Given the description of an element on the screen output the (x, y) to click on. 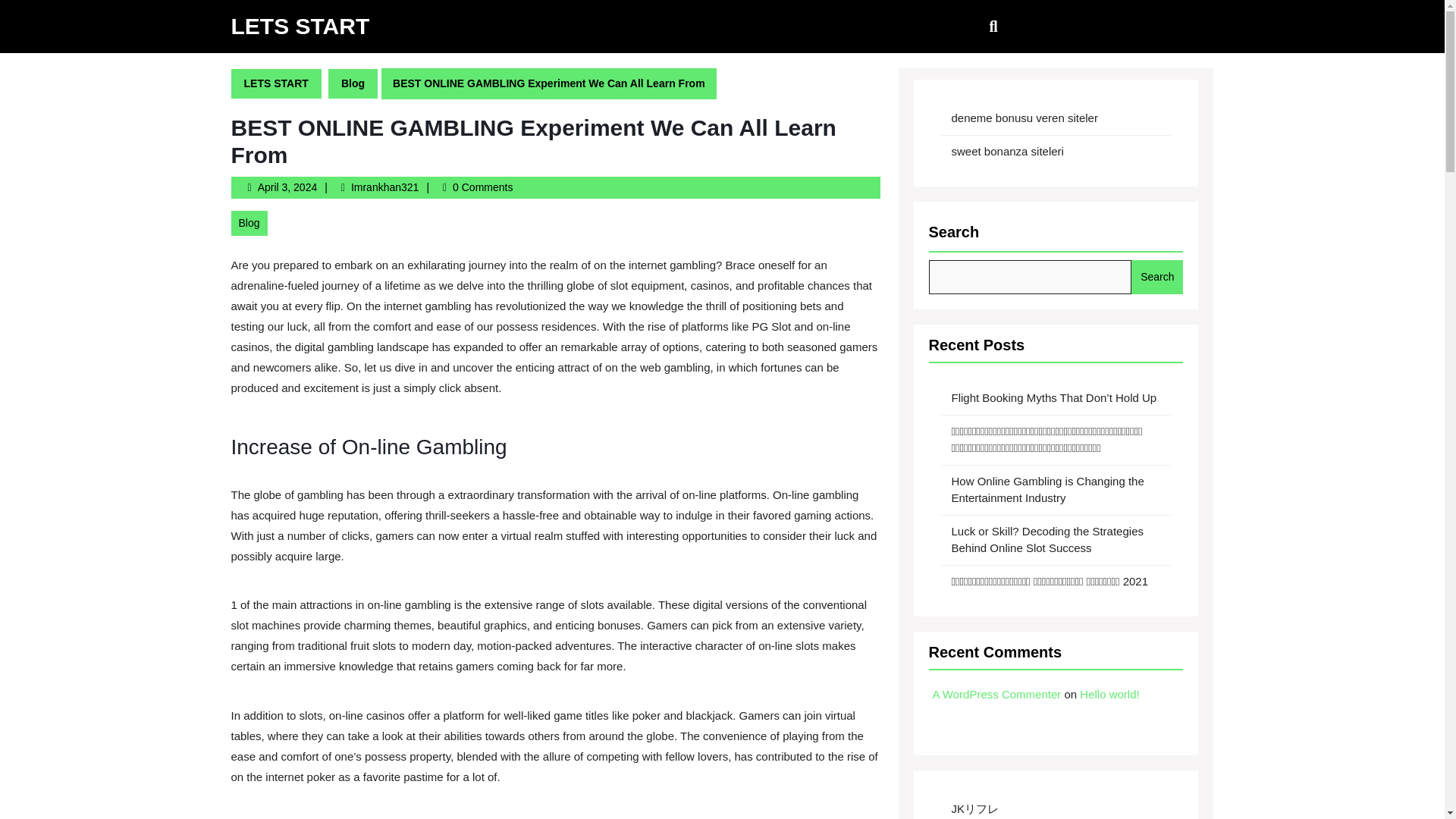
LETS START (275, 83)
Hello world! (1109, 694)
Search (1156, 277)
LETS START (299, 25)
sweet bonanza siteleri (384, 186)
deneme bonusu veren siteler (287, 186)
Blog (1006, 150)
A WordPress Commenter (1023, 117)
How Online Gambling is Changing the Entertainment Industry (353, 83)
Blog (997, 694)
